Given the description of an element on the screen output the (x, y) to click on. 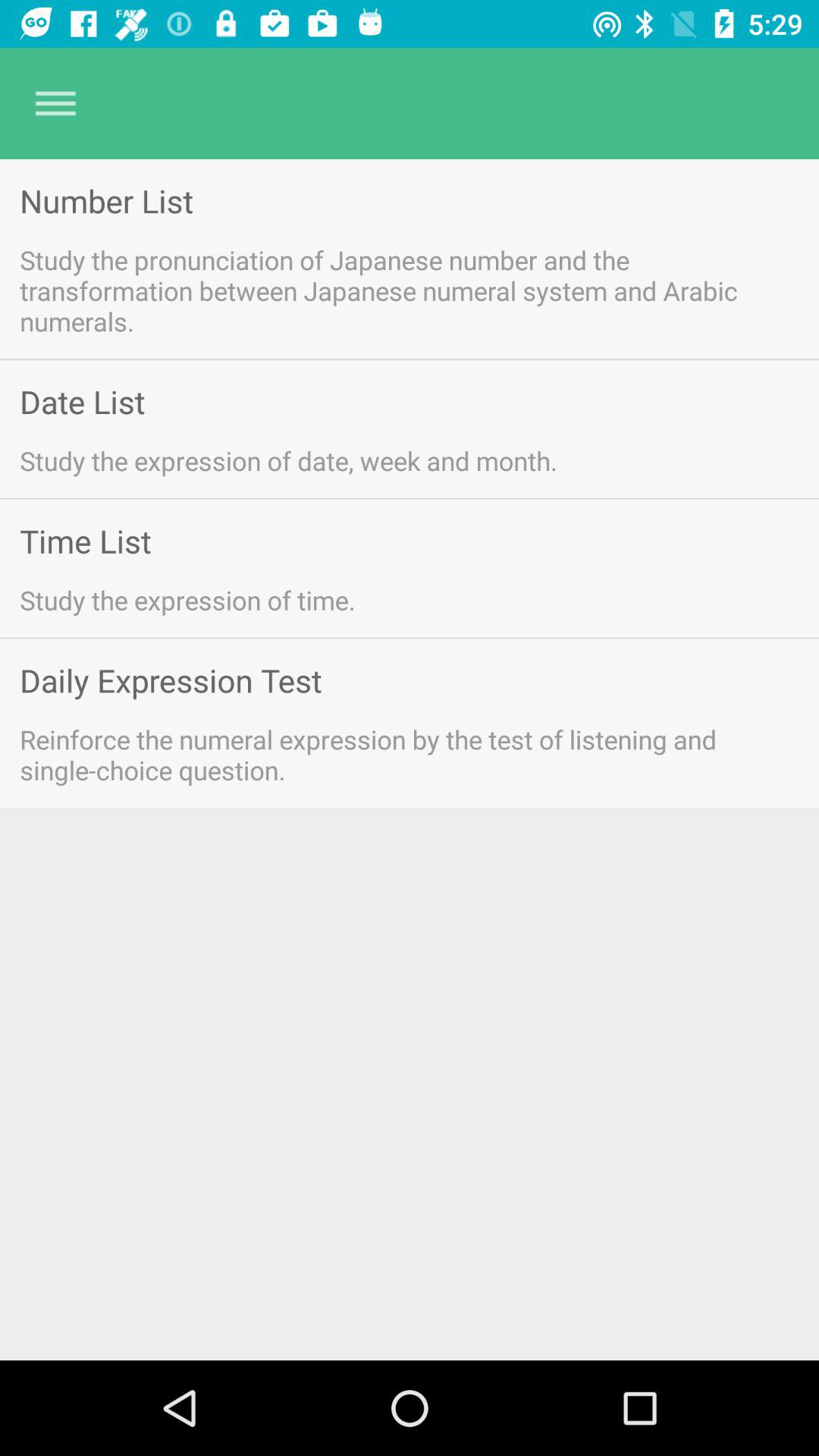
turn on item above study the pronunciation item (106, 200)
